Given the description of an element on the screen output the (x, y) to click on. 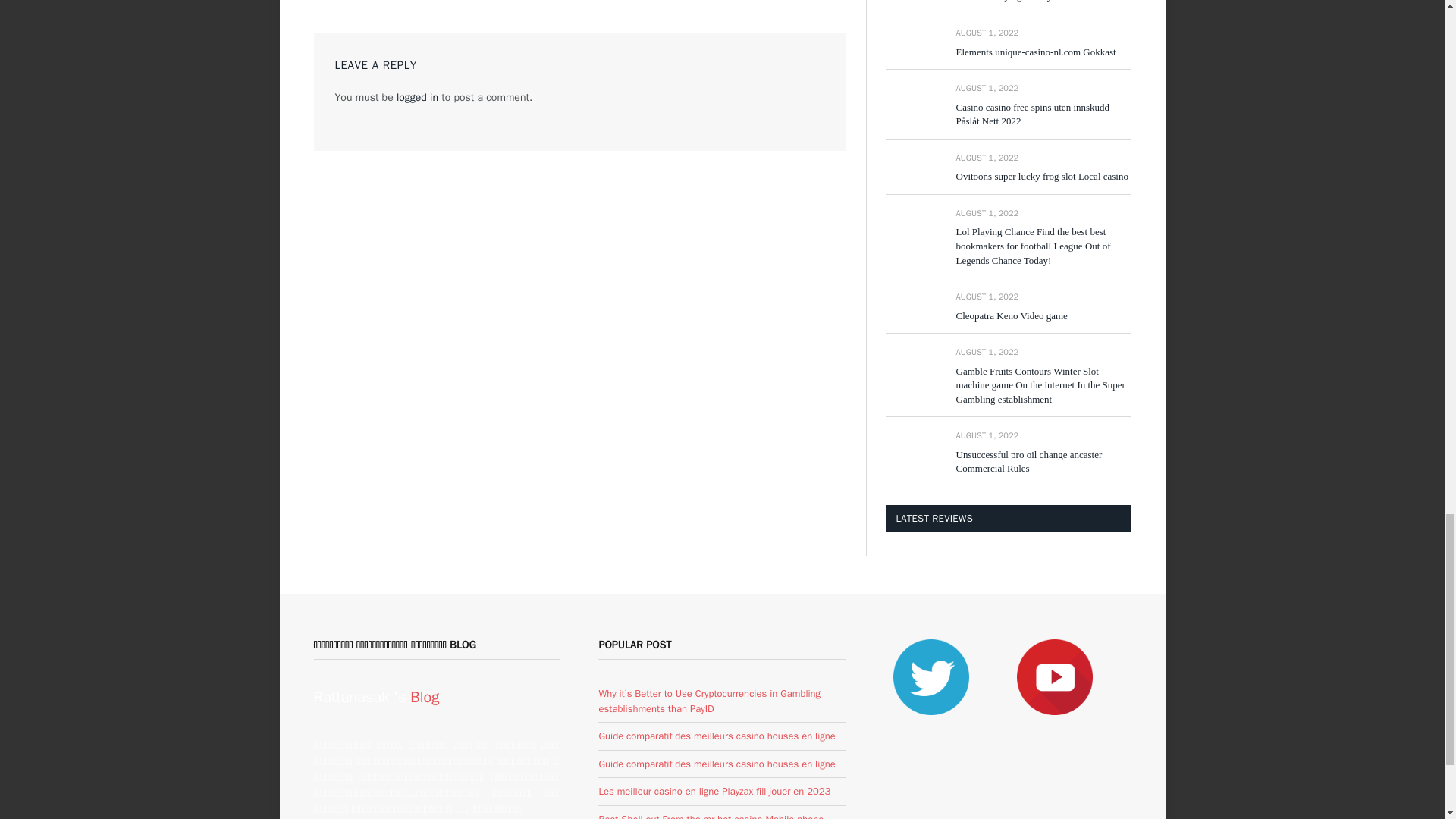
logged in (417, 97)
